Given the description of an element on the screen output the (x, y) to click on. 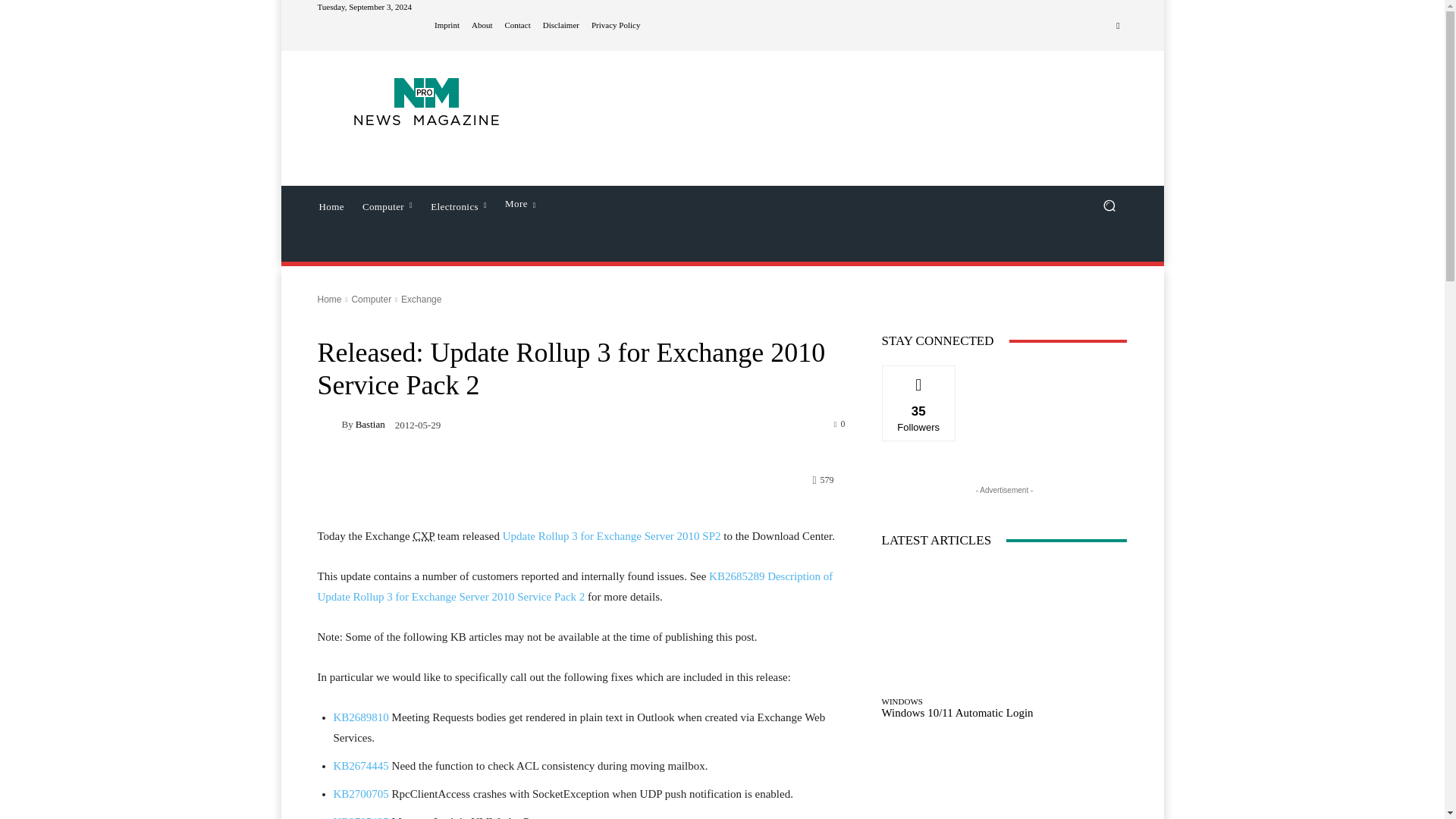
Privacy Policy (615, 25)
Disclaimer (561, 25)
Imprint (446, 25)
About (482, 25)
GitHub (1117, 25)
Customer Experience (422, 535)
Bastian (328, 424)
View all posts in Computer (370, 299)
View all posts in Exchange (421, 299)
